Given the description of an element on the screen output the (x, y) to click on. 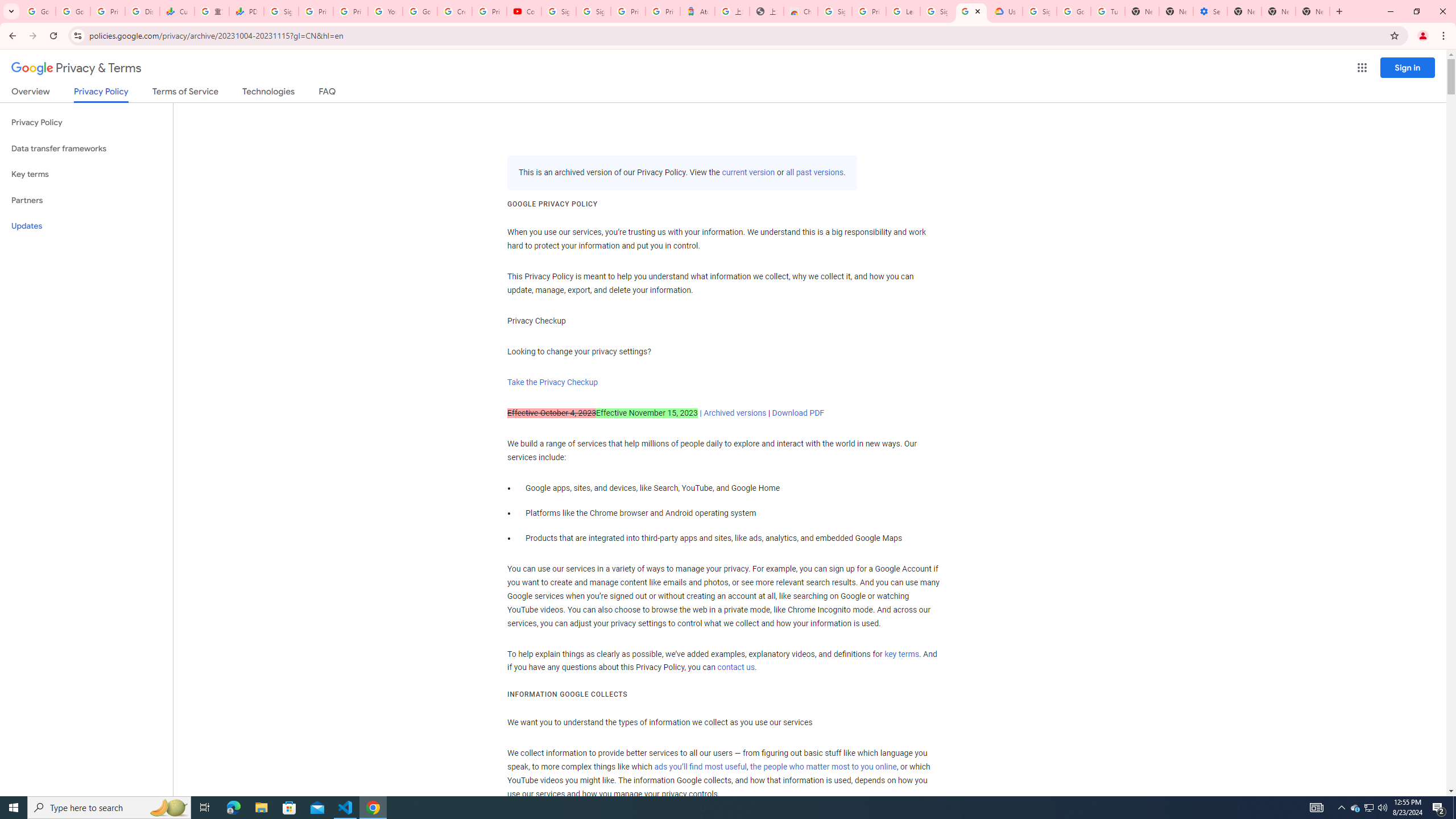
current version (748, 172)
New Tab (1312, 11)
all past versions (813, 172)
Google Account Help (419, 11)
key terms (900, 653)
Privacy Checkup (349, 11)
Atour Hotel - Google hotels (697, 11)
